Given the description of an element on the screen output the (x, y) to click on. 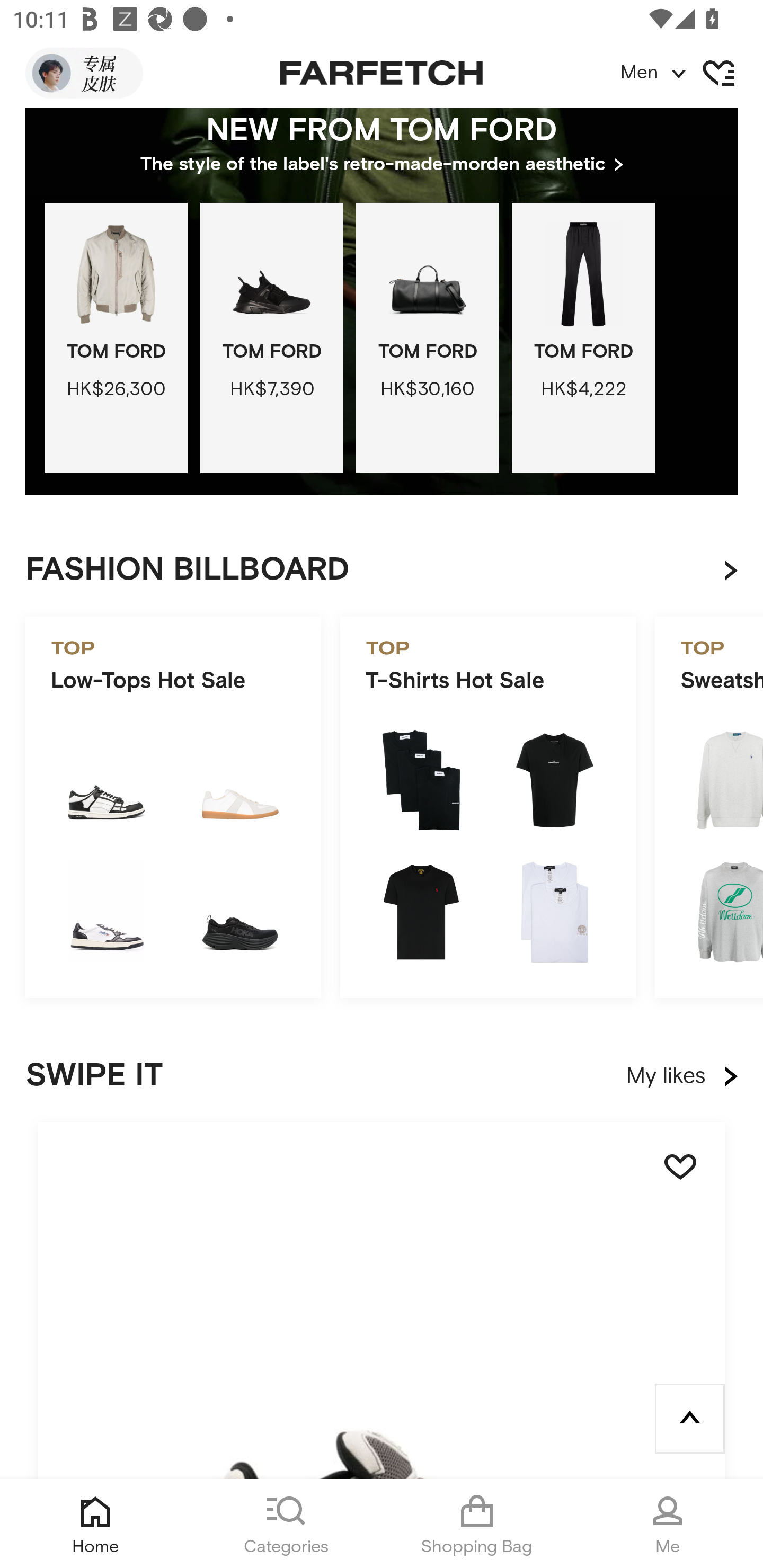
Men (691, 72)
TOM FORD HK$26,300 (115, 337)
TOM FORD HK$7,390 (271, 337)
TOM FORD HK$30,160 (427, 337)
TOM FORD HK$4,222 (582, 337)
FASHION BILLBOARD (394, 570)
Low-Tops Hot Sale (173, 806)
T-Shirts Hot Sale (487, 806)
SWIPE IT My likes (381, 1076)
Categories (285, 1523)
Shopping Bag (476, 1523)
Me (667, 1523)
